Given the description of an element on the screen output the (x, y) to click on. 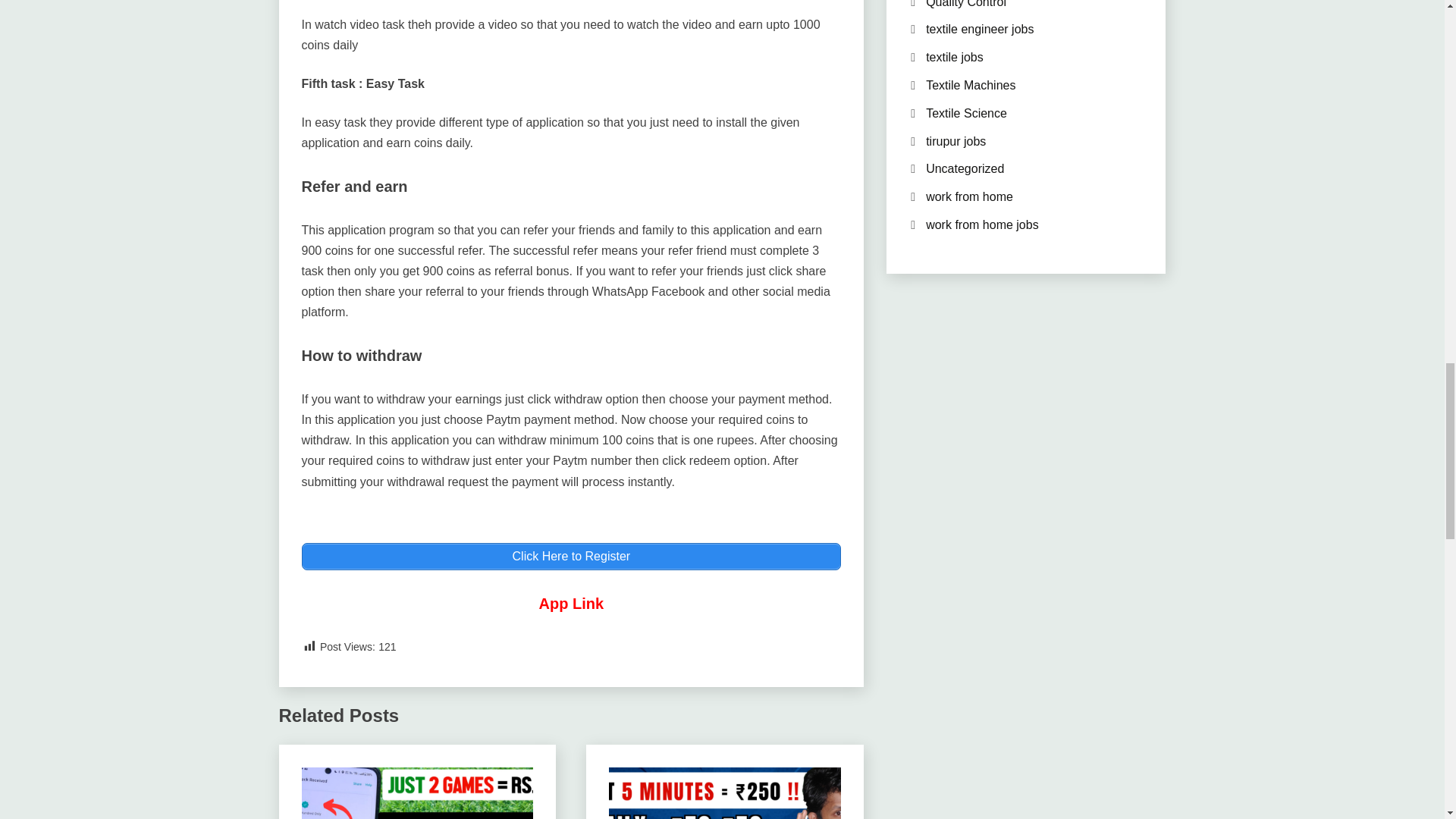
Click Here to Register (571, 556)
